Given the description of an element on the screen output the (x, y) to click on. 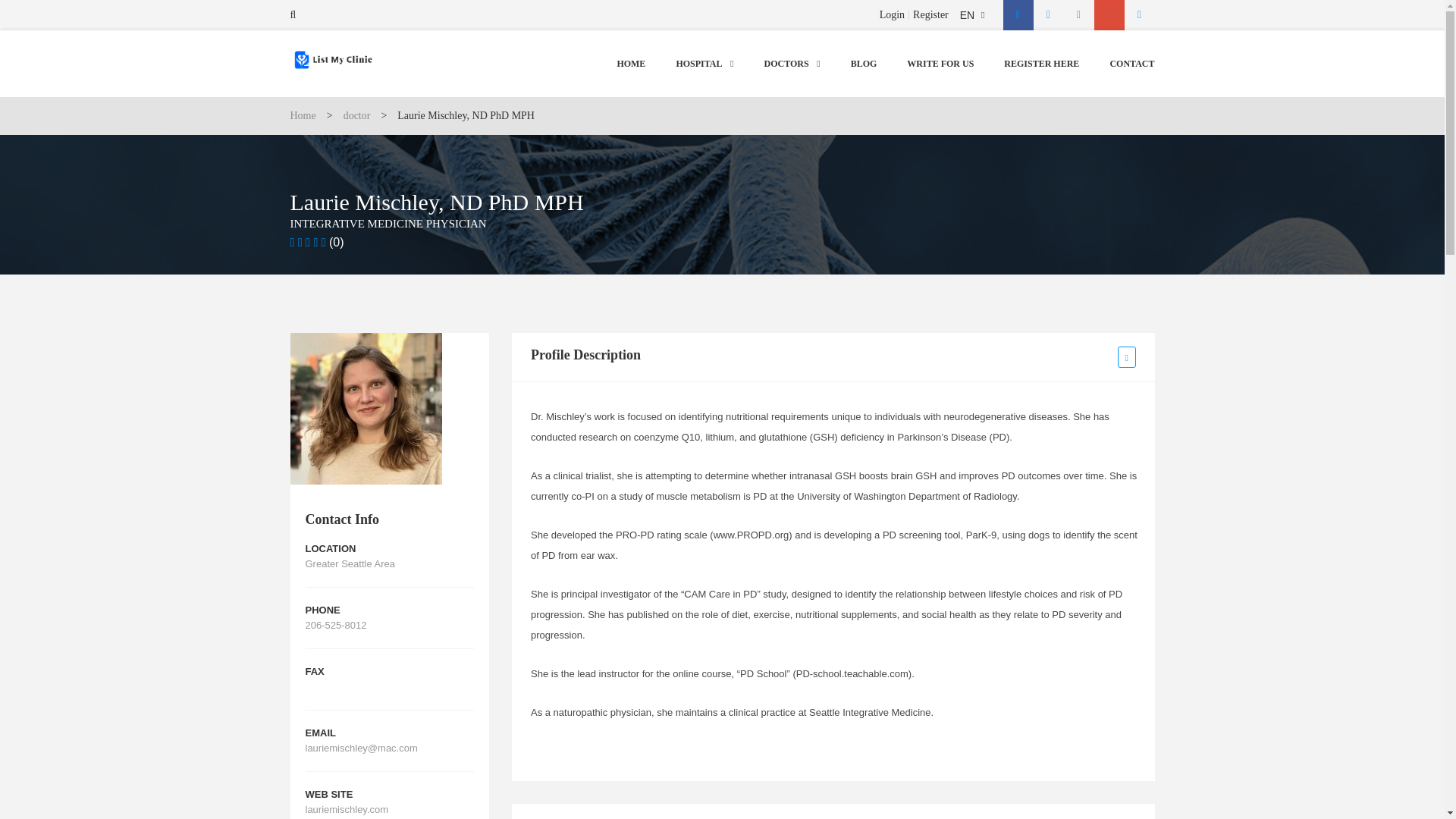
Hospital (1260, 114)
Blog (1251, 160)
Contact (1259, 228)
Doctors (1259, 137)
X (1410, 33)
Home (1254, 91)
Write For Us (1271, 182)
REGISTER HERE (1286, 205)
